Given the description of an element on the screen output the (x, y) to click on. 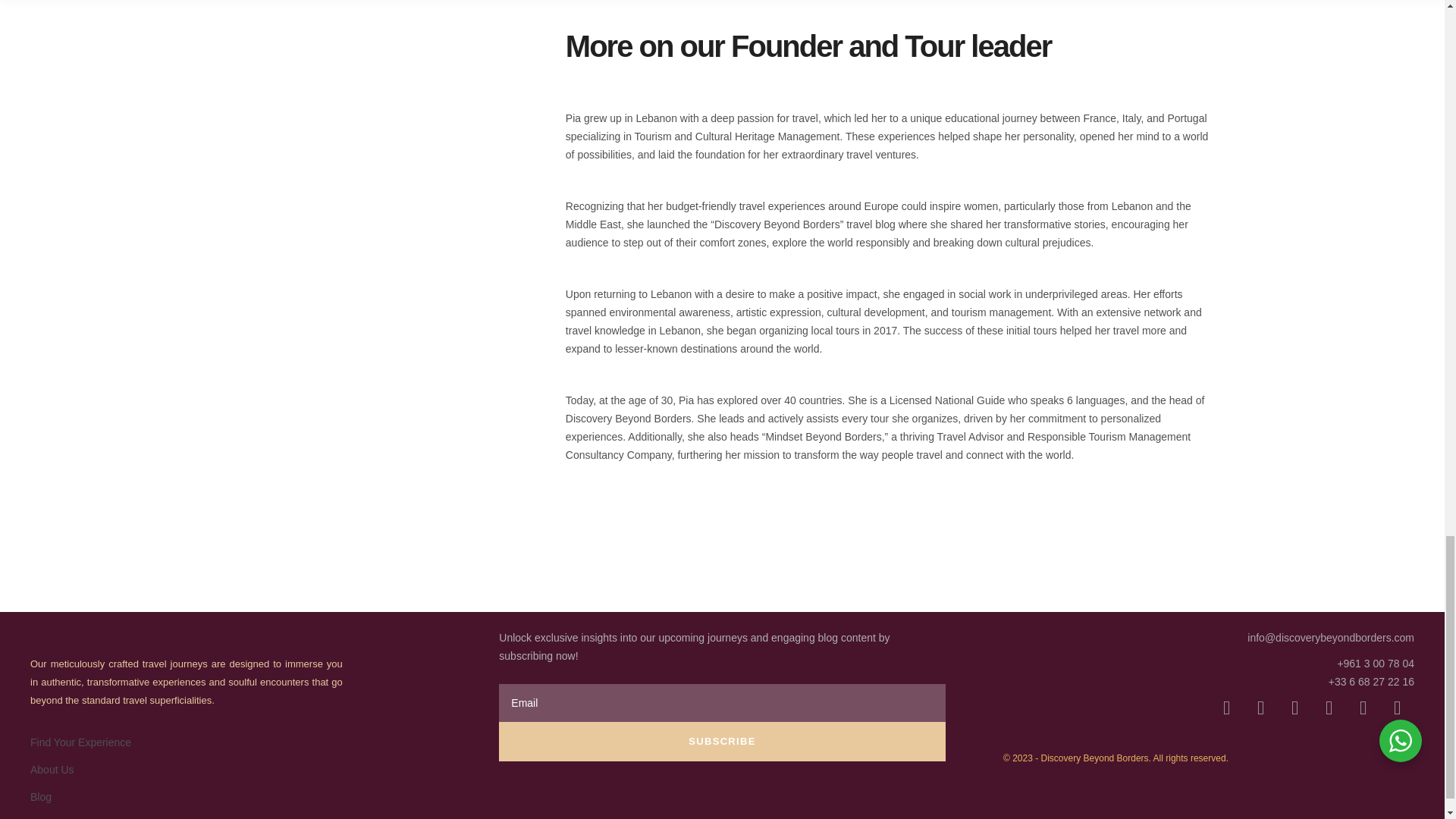
Subscribe (721, 741)
Find Your Experience (80, 742)
Contact Us (56, 818)
photo linked to my message in about us (400, 147)
Blog (40, 797)
pia photo (400, 470)
Subscribe (721, 741)
About Us (52, 769)
